Given the description of an element on the screen output the (x, y) to click on. 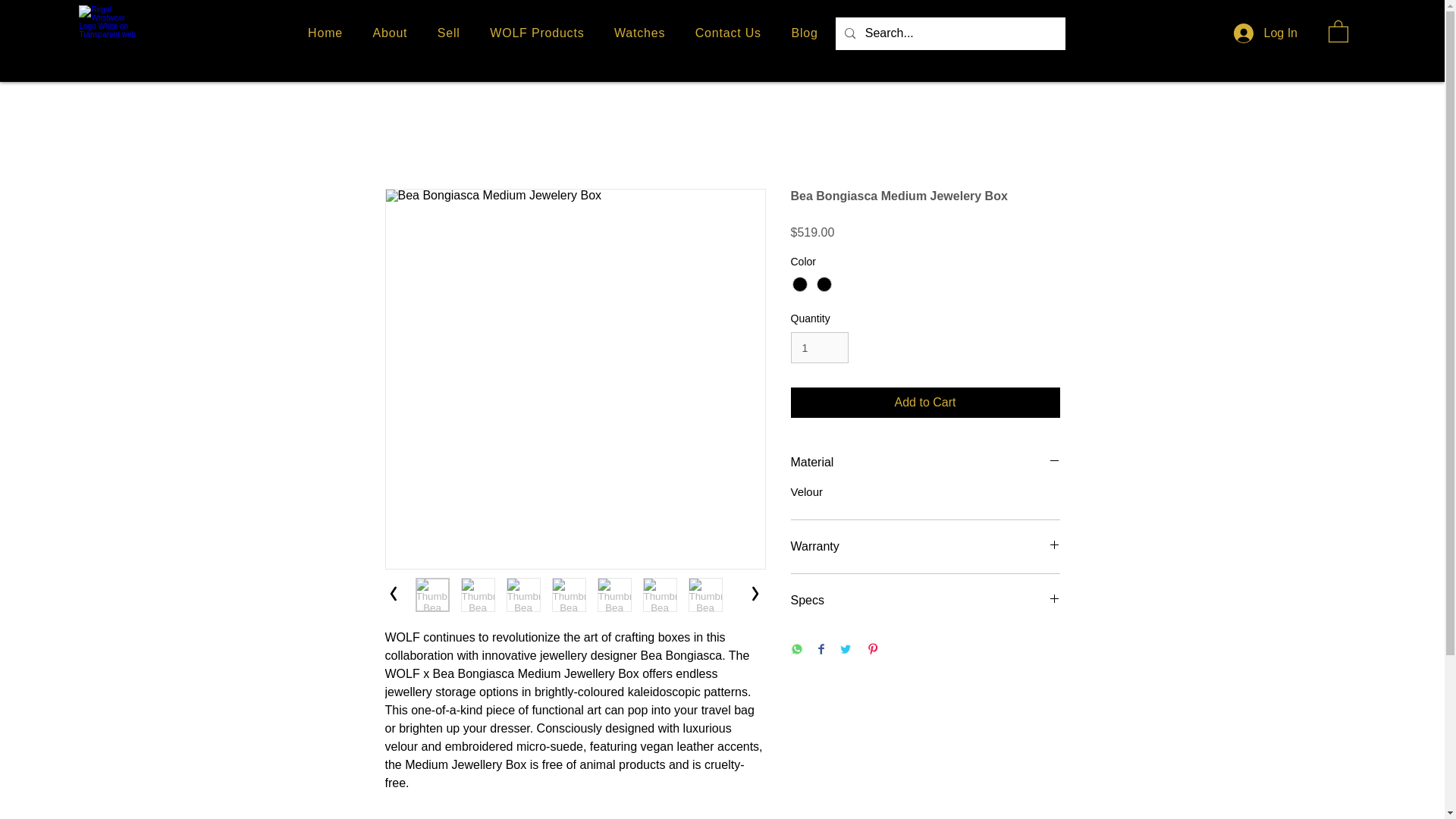
1 (818, 347)
Warranty (924, 546)
Log In (1244, 32)
Material (924, 462)
Specs (924, 600)
Sell (448, 32)
Contact Us (727, 32)
WOLF Products (536, 32)
About (390, 32)
Watches (639, 32)
